Given the description of an element on the screen output the (x, y) to click on. 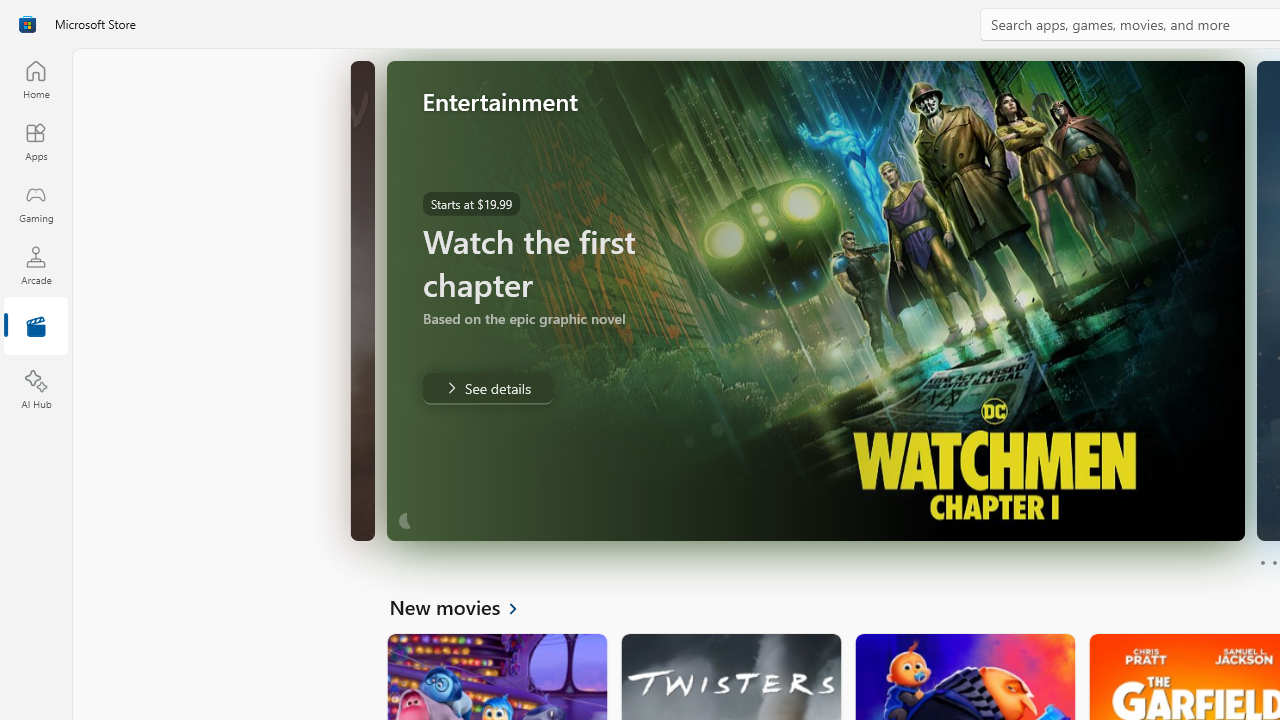
Page 2 (1274, 562)
Page 1 (1261, 562)
AutomationID: Image (815, 300)
See all  New movies (464, 606)
